Given the description of an element on the screen output the (x, y) to click on. 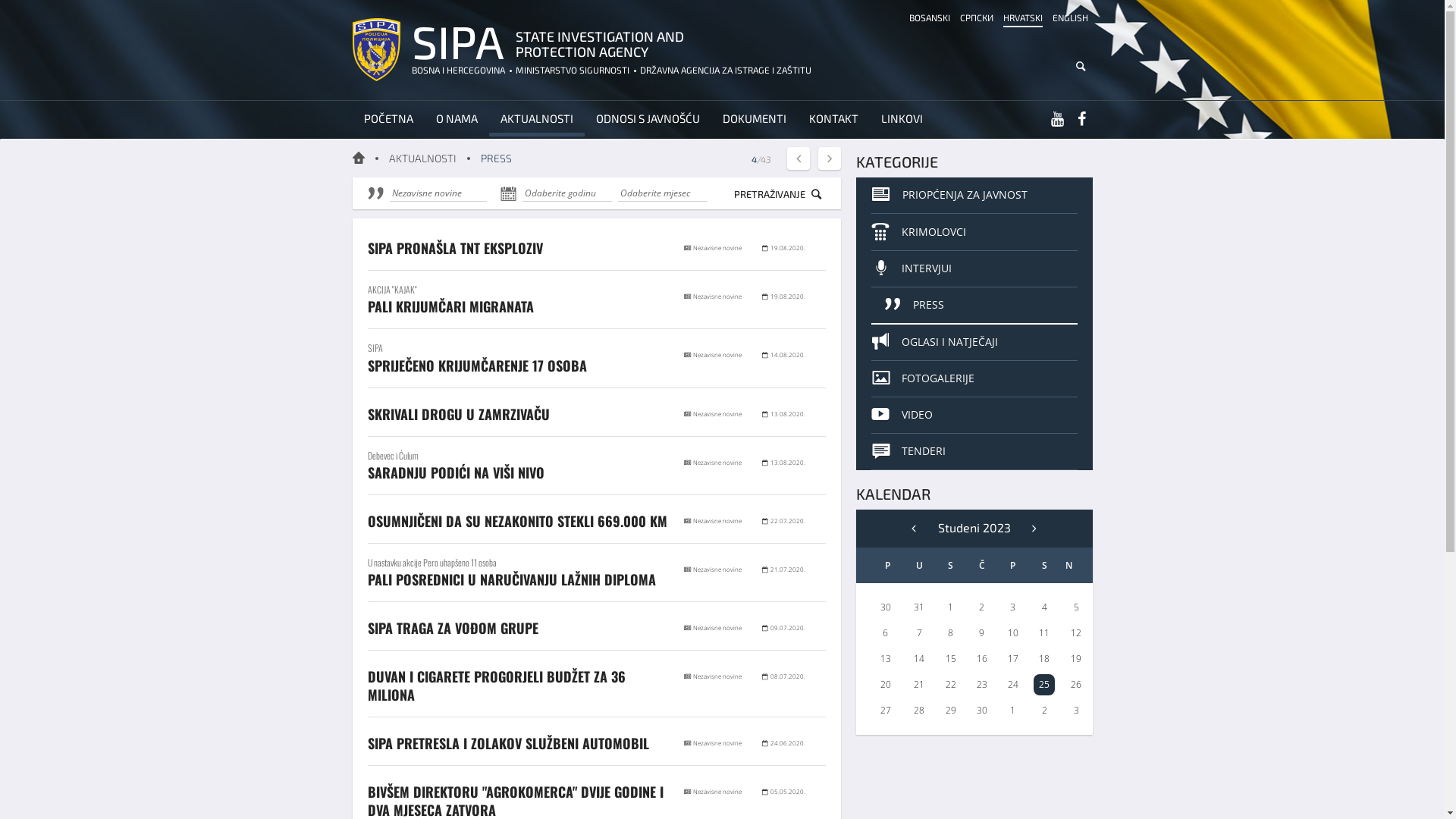
4 Element type: text (1044, 606)
17 Element type: text (1012, 658)
24 Element type: text (1012, 683)
21 Element type: text (918, 683)
TENDERI Element type: text (973, 451)
1 Element type: text (1012, 709)
KONTAKT Element type: text (833, 119)
HRVATSKI Element type: text (1021, 18)
FOTOGALERIJE Element type: text (973, 378)
30 Element type: text (885, 606)
PRESS Element type: text (973, 305)
18 Element type: text (1043, 658)
SIPA Element type: text (457, 40)
8 Element type: text (950, 632)
Nezavisne novine Element type: text (717, 675)
LINKOVI Element type: text (901, 119)
KATEGORIJE Element type: text (896, 161)
VIDEO Element type: text (973, 415)
Nezavisne novine Element type: text (717, 742)
9 Element type: text (981, 632)
Nezavisne novine
  Element type: text (437, 193)
ENGLISH Element type: text (1070, 18)
7 Element type: text (919, 632)
AKTUALNOSTI Element type: text (535, 119)
5 Element type: text (1076, 606)
Nezavisne novine Element type: text (717, 413)
Youtube Element type: hover (1056, 119)
14 Element type: text (918, 658)
3 Element type: text (1076, 709)
SIPA Element type: text (517, 347)
26 Element type: text (1075, 683)
O NAMA Element type: text (456, 119)
Nezavisne novine Element type: text (717, 247)
KRIMOLOVCI Element type: text (973, 232)
27 Element type: text (885, 709)
23 Element type: text (981, 683)
BOSANSKI Element type: text (928, 18)
STATE INVESTIGATION AND PROTECTION AGENCY Element type: text (606, 44)
15 Element type: text (950, 658)
Nezavisne novine Element type: text (717, 354)
Nezavisne novine Element type: text (717, 520)
12 Element type: text (1075, 632)
10 Element type: text (1012, 632)
11 Element type: text (1043, 632)
INTERVJUI Element type: text (973, 269)
30 Element type: text (981, 709)
AKTUALNOSTI Element type: text (421, 157)
Nezavisne novine Element type: text (717, 462)
16 Element type: text (981, 658)
29 Element type: text (950, 709)
6 Element type: text (885, 632)
28 Element type: text (918, 709)
Facebook Element type: hover (1081, 119)
2 Element type: text (1044, 709)
Odaberite mjesec
  Element type: text (661, 193)
Nezavisne novine Element type: text (717, 295)
19 Element type: text (1075, 658)
13 Element type: text (885, 658)
AKCIJA "KAJAK" Element type: text (517, 289)
Nezavisne novine Element type: text (717, 791)
22 Element type: text (950, 683)
2 Element type: text (981, 606)
25 Element type: text (1043, 683)
Nezavisne novine Element type: text (717, 568)
DOKUMENTI Element type: text (754, 119)
Nezavisne novine Element type: text (717, 627)
20 Element type: text (885, 683)
1 Element type: text (950, 606)
3 Element type: text (1012, 606)
Odaberite godinu
  Element type: text (566, 193)
31 Element type: text (918, 606)
